Given the description of an element on the screen output the (x, y) to click on. 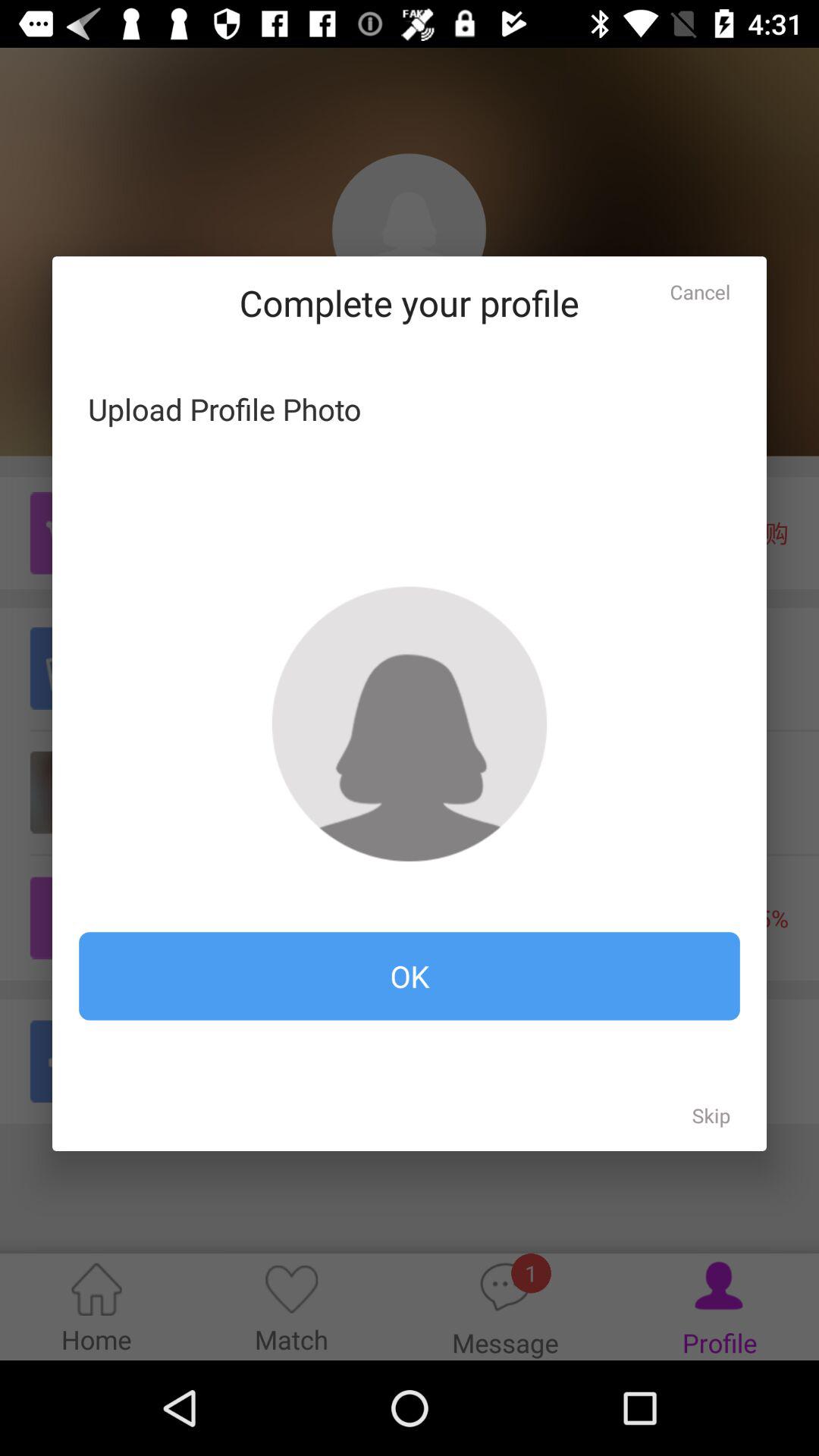
select photo to upload (409, 723)
